Given the description of an element on the screen output the (x, y) to click on. 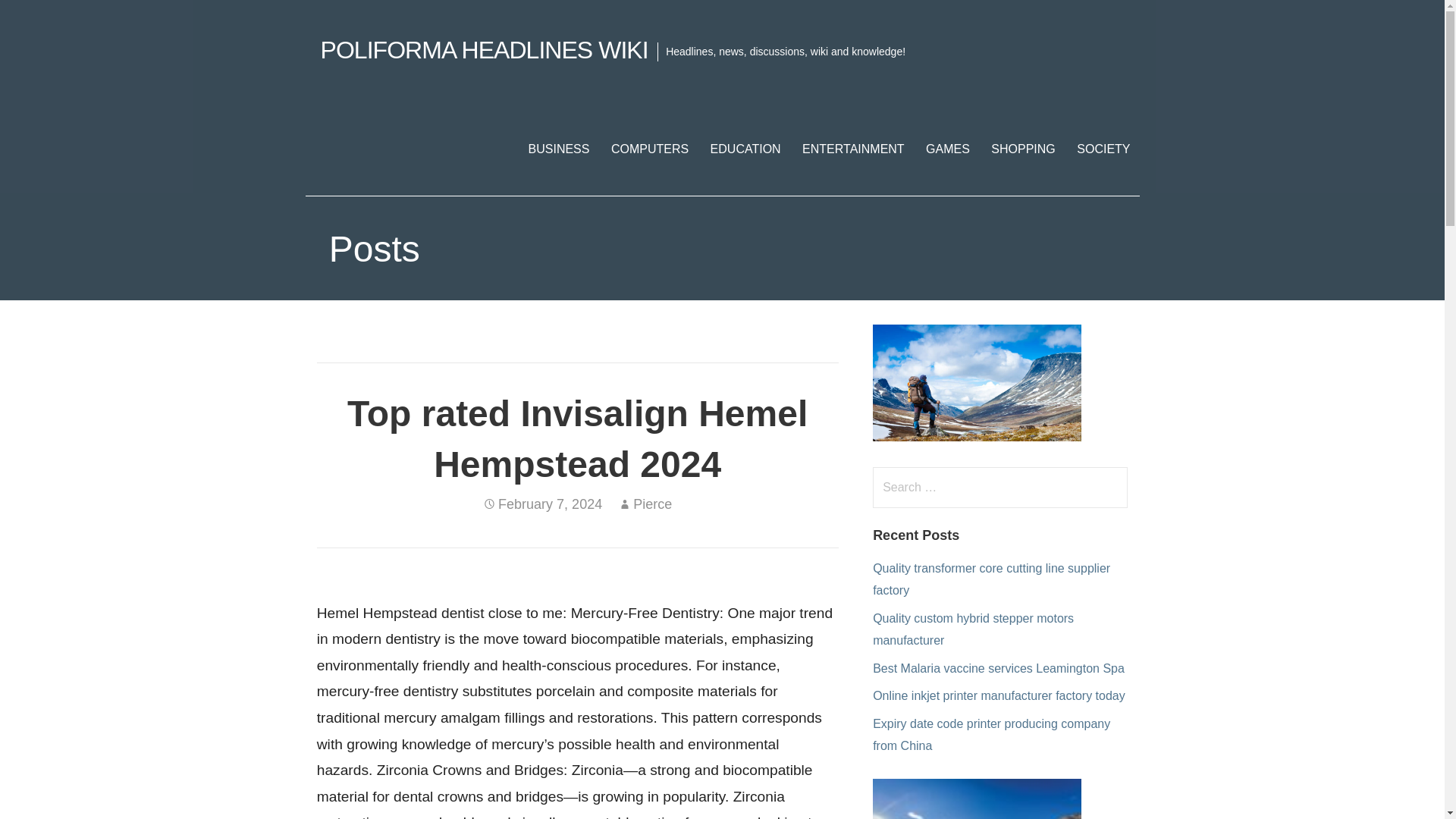
Online inkjet printer manufacturer factory today (998, 695)
POLIFORMA HEADLINES WIKI (483, 49)
Pierce (652, 503)
Quality transformer core cutting line supplier factory (990, 579)
ENTERTAINMENT (853, 148)
Search (42, 18)
Expiry date code printer producing company from China (990, 734)
Quality custom hybrid stepper motors manufacturer (973, 629)
EDUCATION (745, 148)
Posts by Pierce (652, 503)
Best Malaria vaccine services Leamington Spa (998, 667)
COMPUTERS (649, 148)
